Given the description of an element on the screen output the (x, y) to click on. 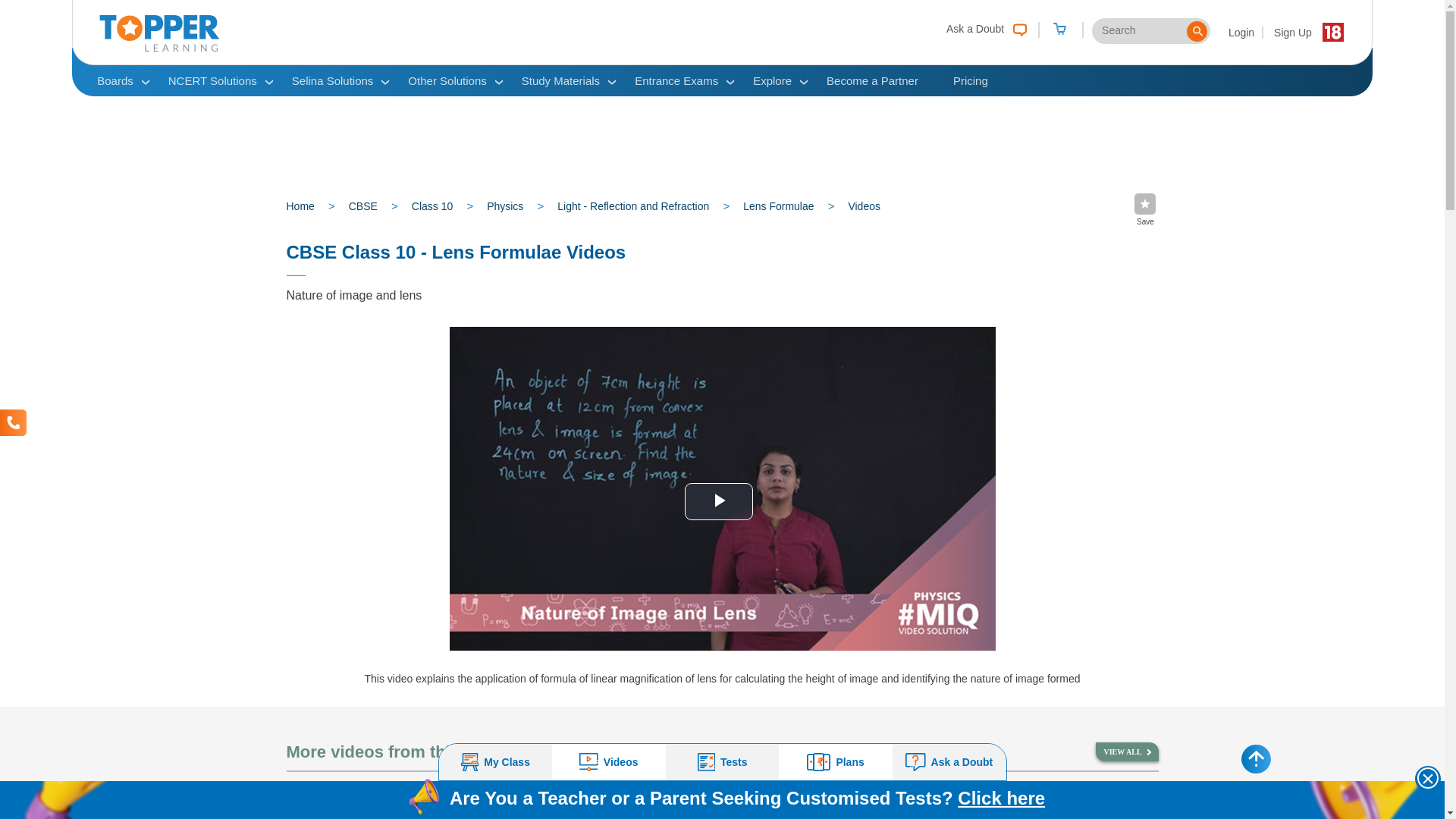
Cart (1059, 30)
Play Video (718, 501)
Ask a Doubt (983, 28)
Boards (114, 80)
Sign Up (1292, 32)
Login (1242, 32)
TopperLearning (159, 47)
